Given the description of an element on the screen output the (x, y) to click on. 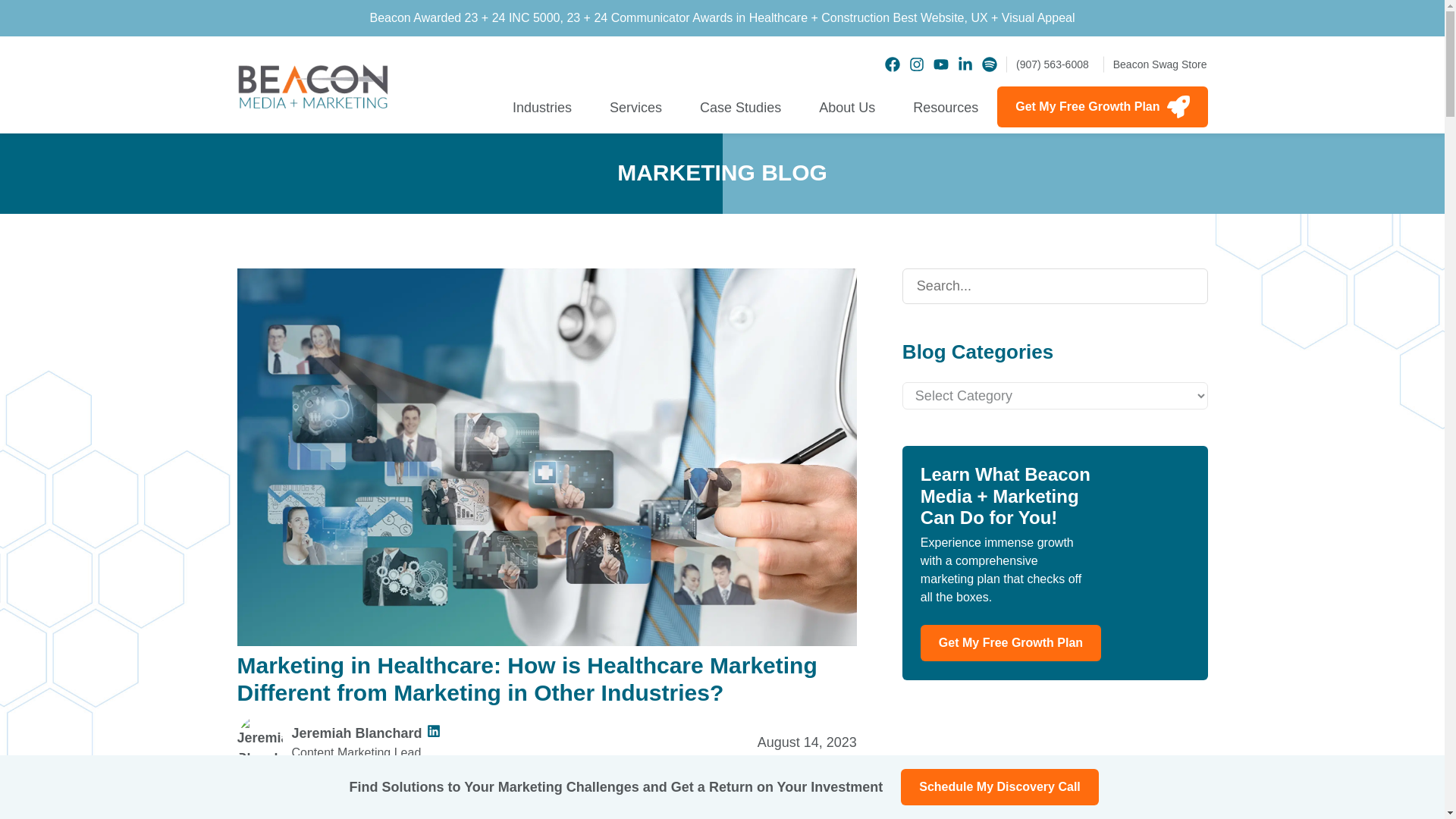
LinkedIn (964, 64)
Industries (542, 109)
Facebook (892, 64)
Services (636, 109)
About Us (846, 109)
Spotify (988, 64)
YouTube (940, 64)
Beacon Swag Store (1155, 64)
Case Studies (740, 109)
